Given the description of an element on the screen output the (x, y) to click on. 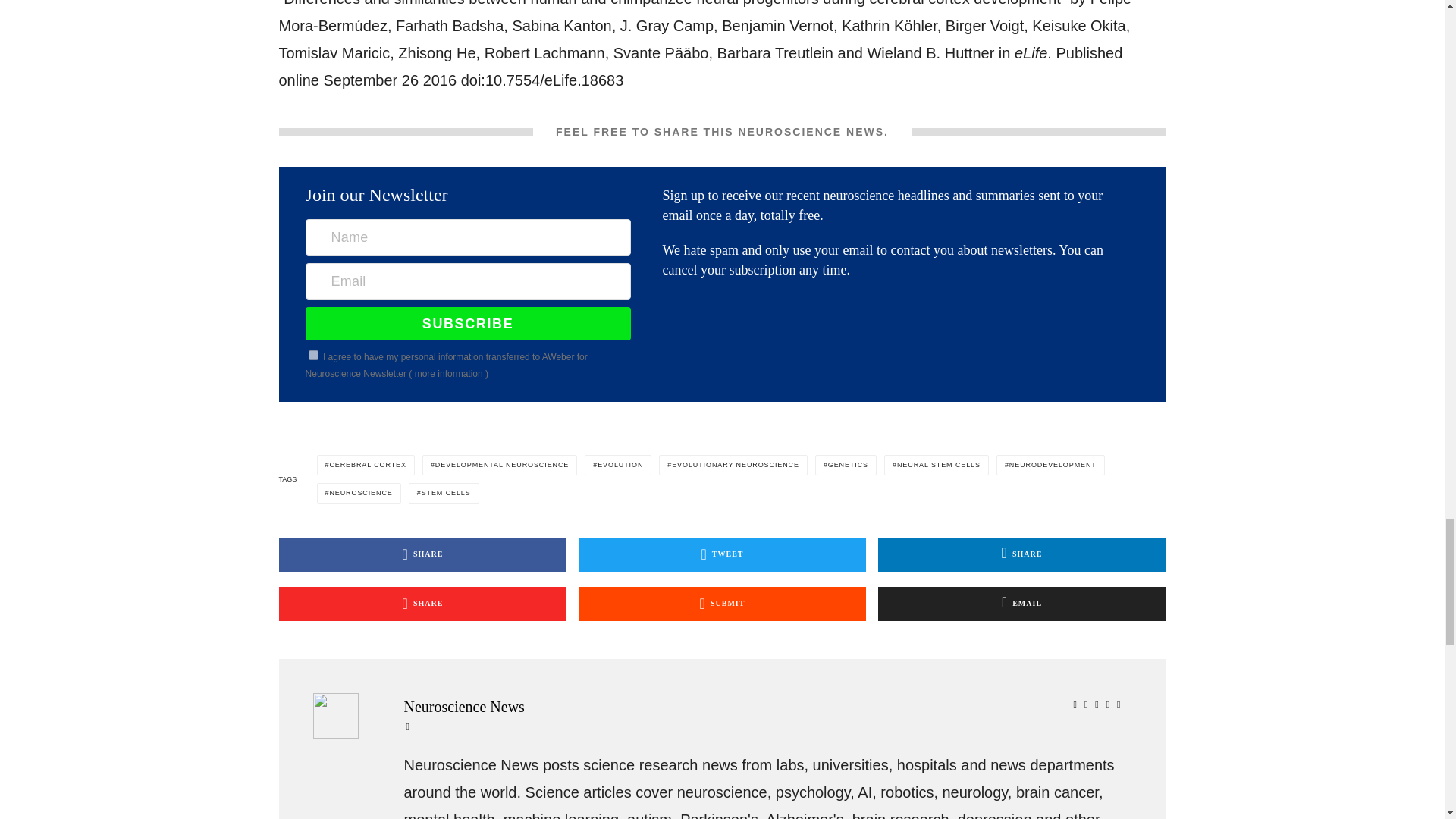
Neuroscience News (764, 706)
SHARE (1021, 554)
SUBSCRIBE (467, 323)
GENETICS (845, 465)
STEM CELLS (444, 493)
NEUROSCIENCE (359, 493)
more information (448, 373)
on (313, 355)
SUBSCRIBE (467, 323)
NEURODEVELOPMENT (1050, 465)
